Given the description of an element on the screen output the (x, y) to click on. 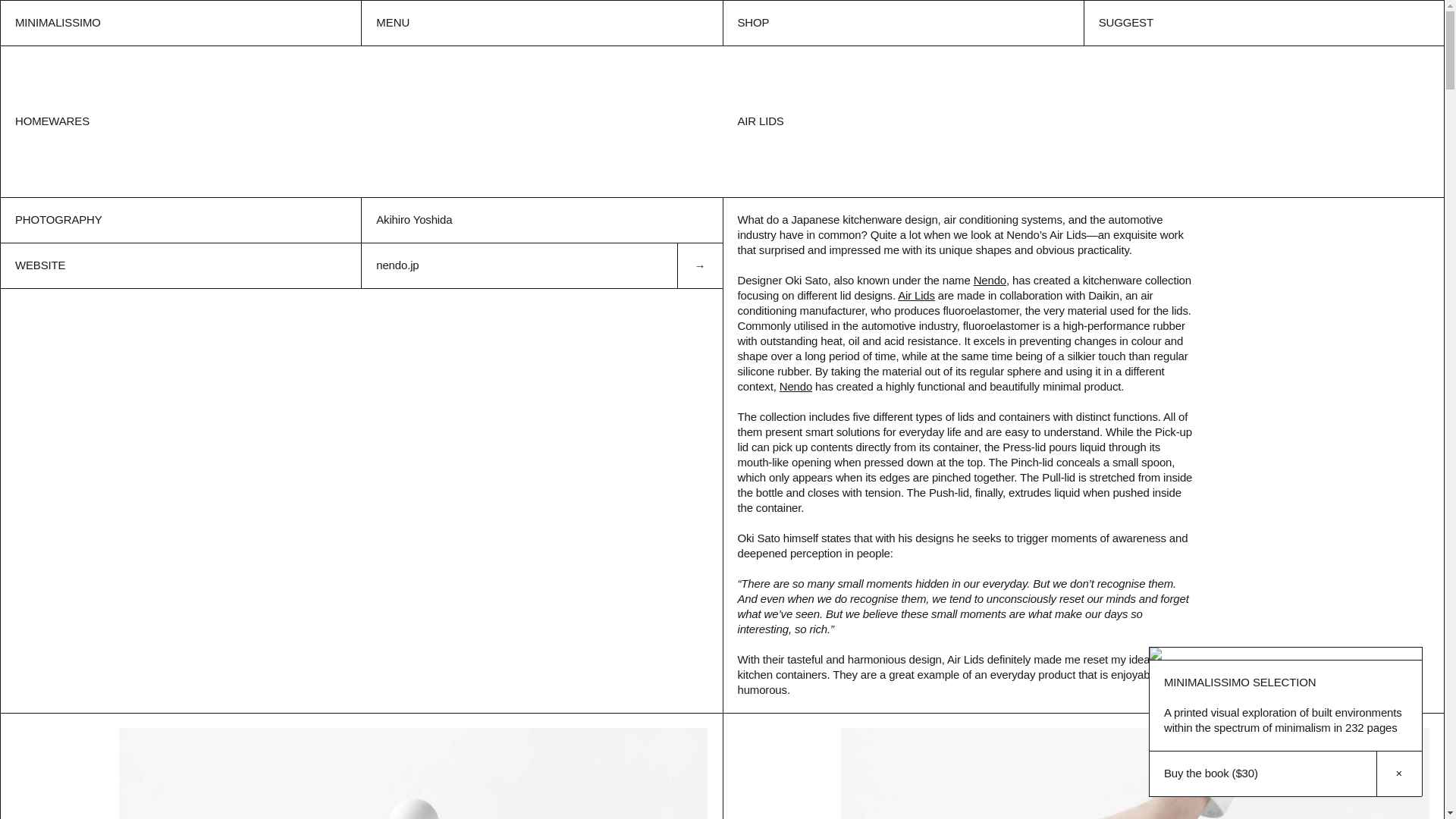
SHOP (902, 22)
nendo.jp (541, 265)
MINIMALISSIMO (180, 22)
Nendo (795, 386)
MENU (541, 22)
Air Lids (916, 295)
HOMEWARES (51, 120)
Nendo (990, 279)
